Given the description of an element on the screen output the (x, y) to click on. 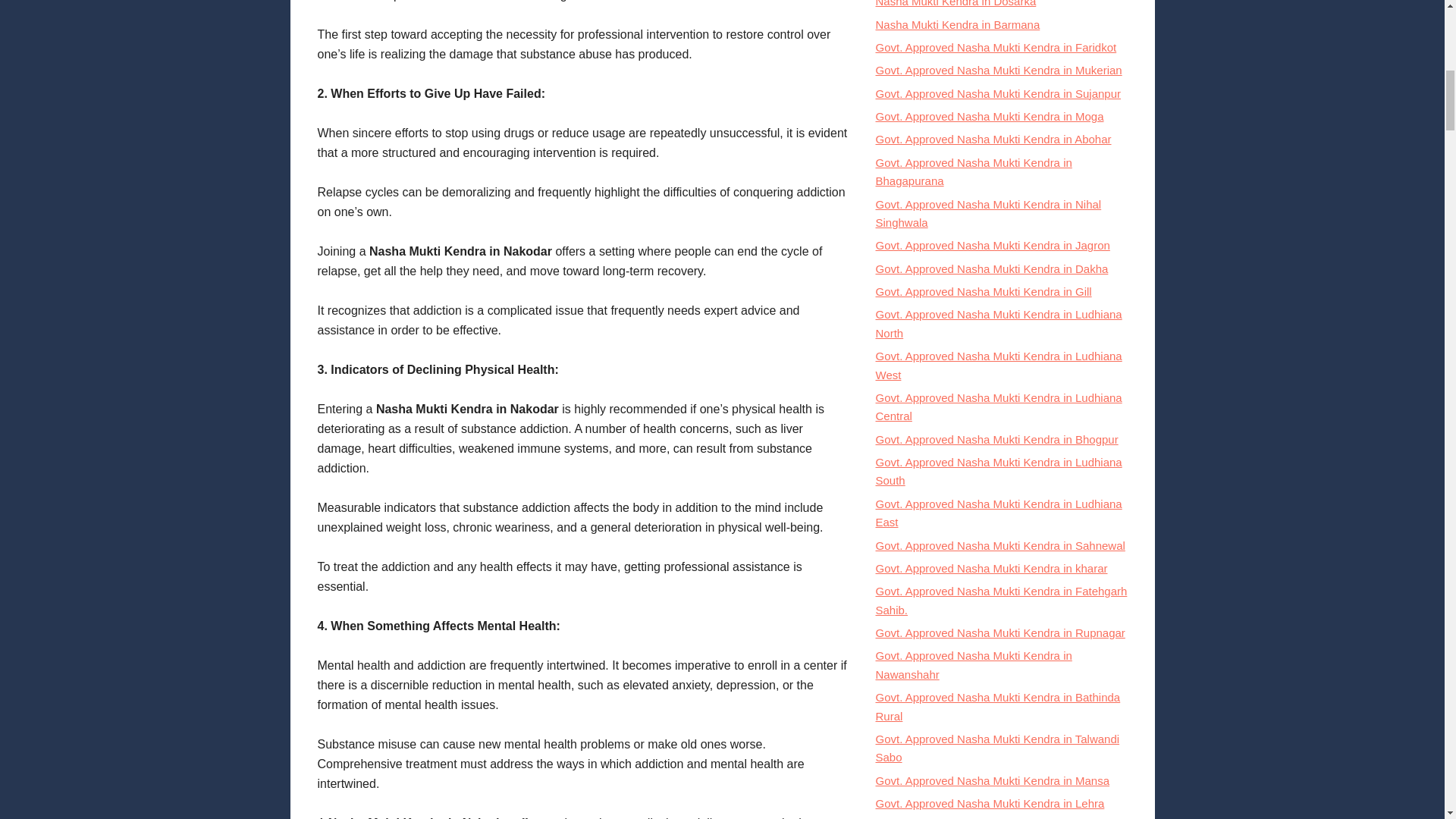
Govt. Approved Nasha Mukti Kendra in Mukerian (998, 69)
Nasha Mukti Kendra in Barmana (957, 24)
Govt. Approved Nasha Mukti Kendra in Ludhiana South (998, 470)
Govt. Approved Nasha Mukti Kendra in Dakha (991, 268)
Govt. Approved Nasha Mukti Kendra in Bhagapurana (973, 171)
Govt. Approved Nasha Mukti Kendra in Sujanpur (998, 92)
Govt. Approved Nasha Mukti Kendra in Faridkot (995, 47)
Govt. Approved Nasha Mukti Kendra in Ludhiana Central (998, 406)
Govt. Approved Nasha Mukti Kendra in Ludhiana North (998, 323)
Nasha Mukti Kendra in Dosarka (955, 3)
Govt. Approved Nasha Mukti Kendra in Ludhiana West (998, 364)
Govt. Approved Nasha Mukti Kendra in kharar (990, 567)
Govt. Approved Nasha Mukti Kendra in Sahnewal (999, 545)
Govt. Approved Nasha Mukti Kendra in Gill (982, 291)
Govt. Approved Nasha Mukti Kendra in Moga (989, 115)
